Given the description of an element on the screen output the (x, y) to click on. 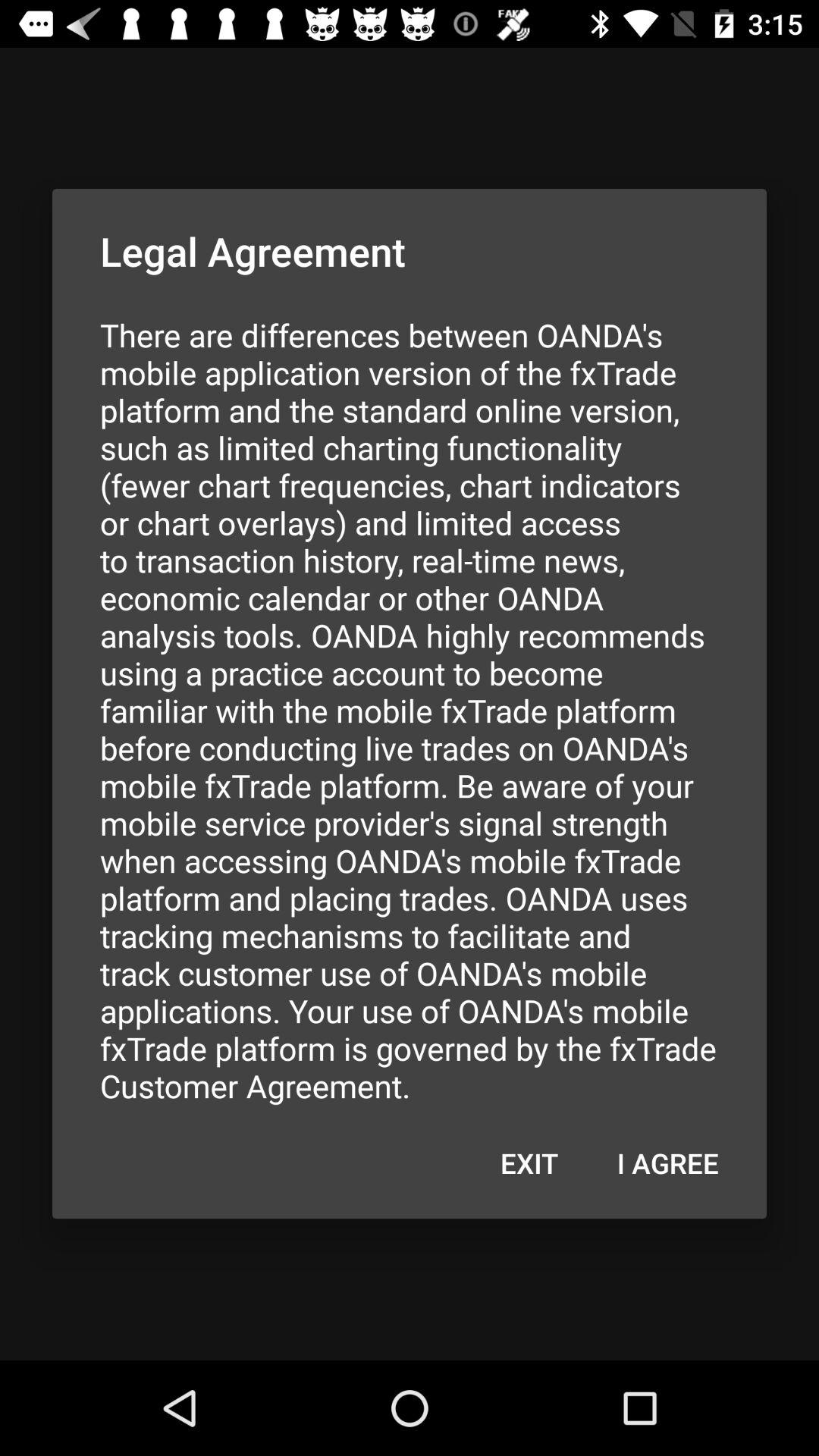
press icon to the left of the i agree button (529, 1162)
